Given the description of an element on the screen output the (x, y) to click on. 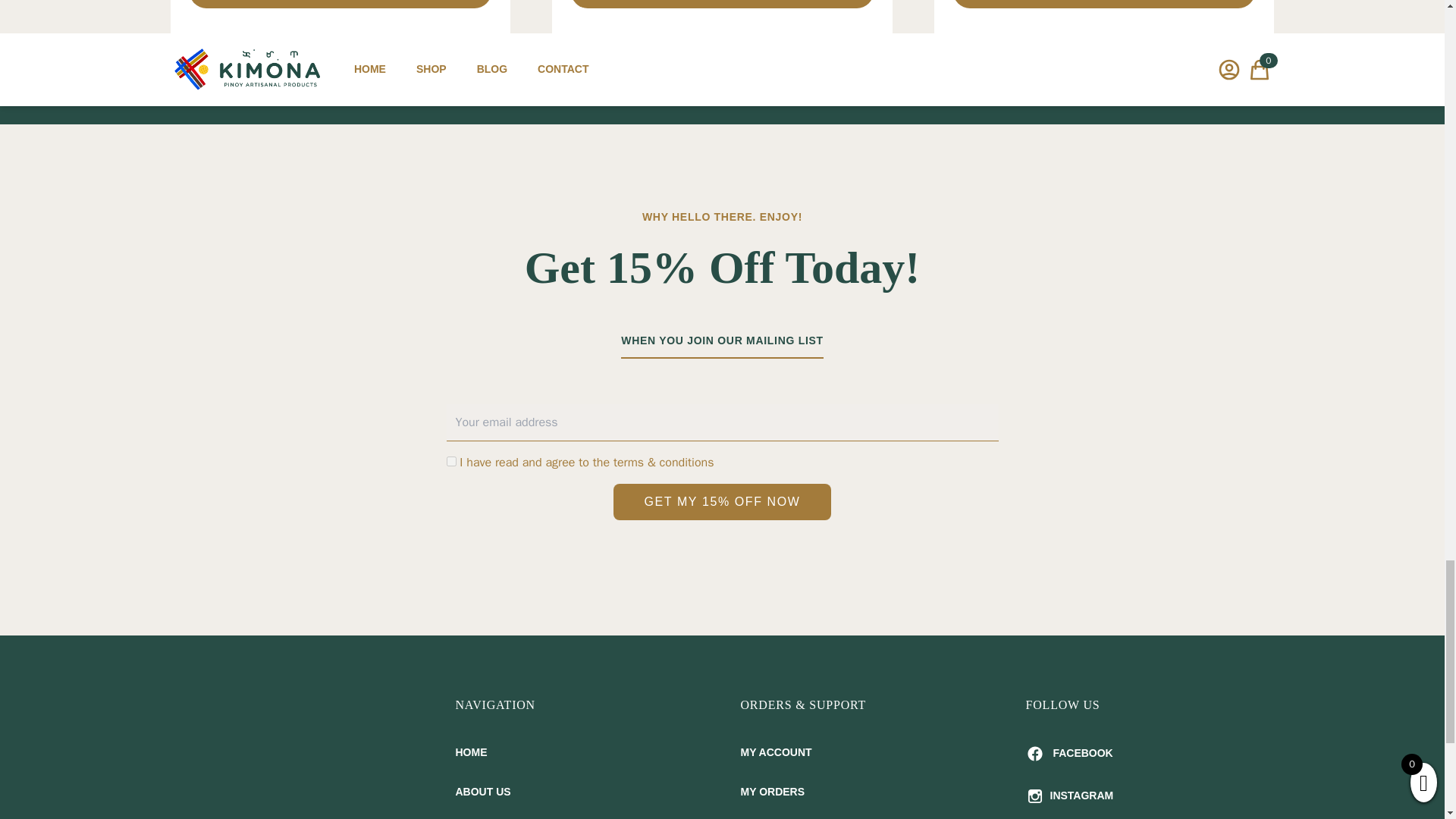
HOME (578, 752)
Facebook - Kimona Pinoy (1149, 753)
1 (450, 461)
MY ACCOUNT (863, 752)
Select options (340, 4)
Read more (721, 4)
Instagram - Kimona Pinoy (1149, 795)
ABOUT US (578, 791)
SHOP (578, 815)
Read more (1104, 4)
